Given the description of an element on the screen output the (x, y) to click on. 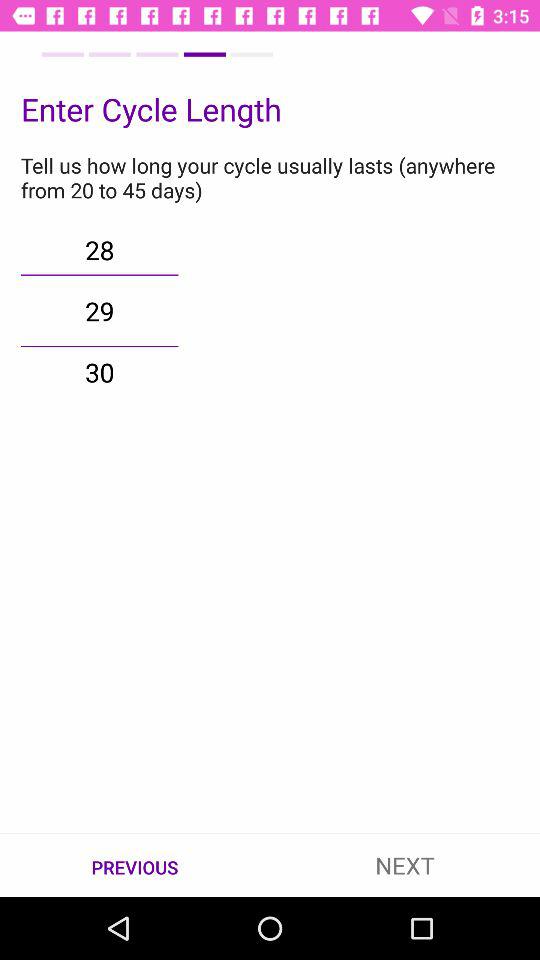
jump to next item (405, 864)
